Given the description of an element on the screen output the (x, y) to click on. 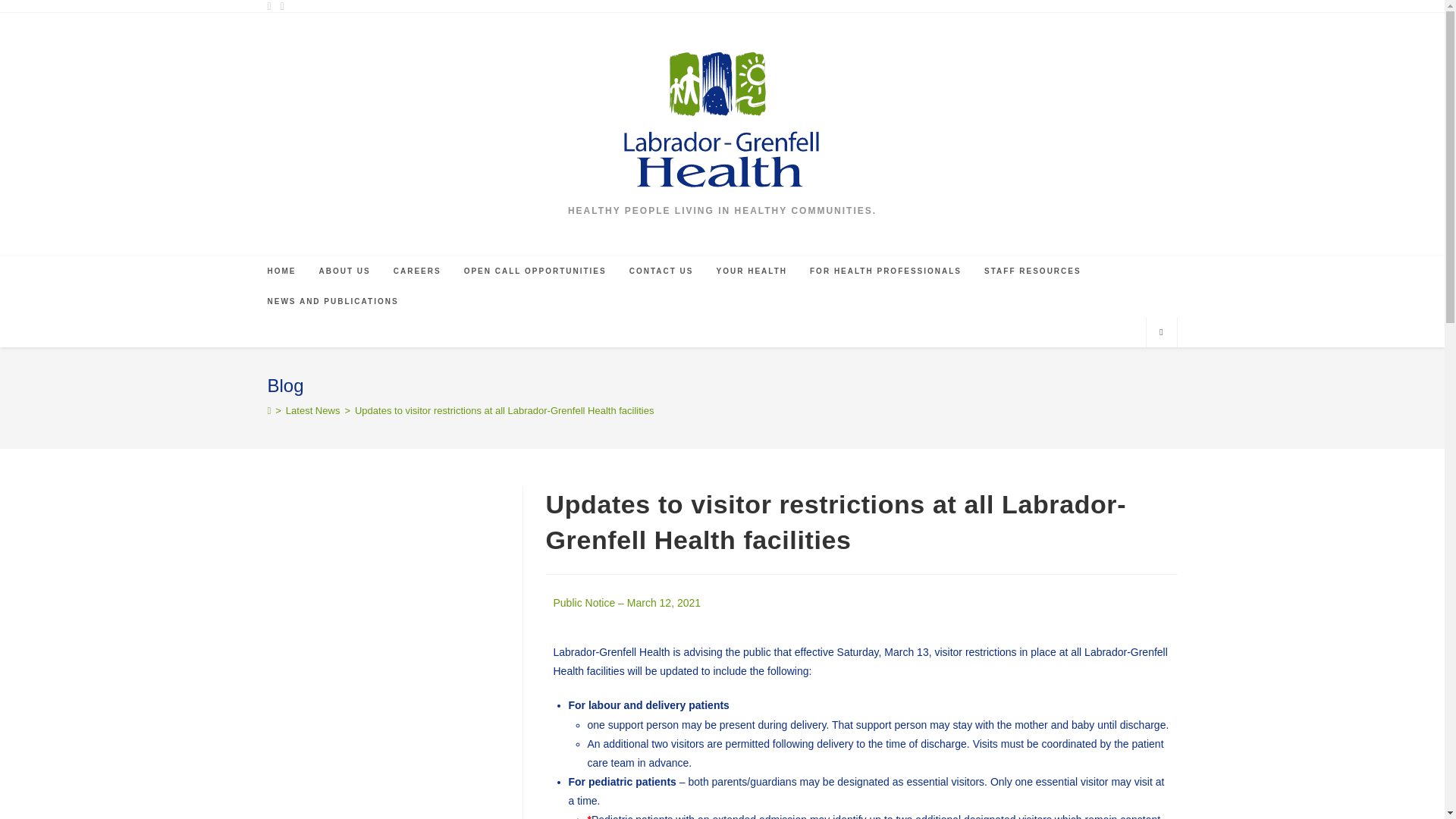
STAFF RESOURCES (1032, 271)
Latest News (312, 410)
YOUR HEALTH (750, 271)
OPEN CALL OPPORTUNITIES (534, 271)
ABOUT US (344, 271)
FOR HEALTH PROFESSIONALS (884, 271)
HOME (281, 271)
CAREERS (416, 271)
CONTACT US (660, 271)
